Given the description of an element on the screen output the (x, y) to click on. 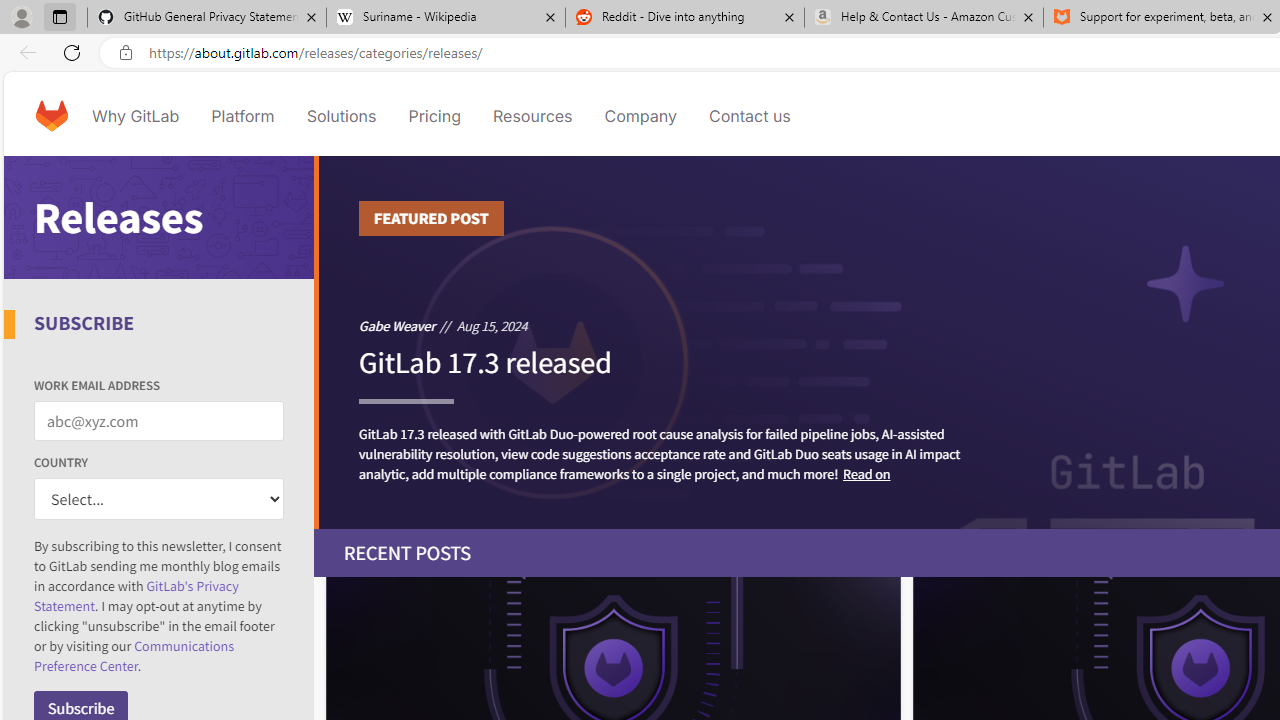
GitLab's Privacy Statement (136, 596)
Read on (866, 472)
